Given the description of an element on the screen output the (x, y) to click on. 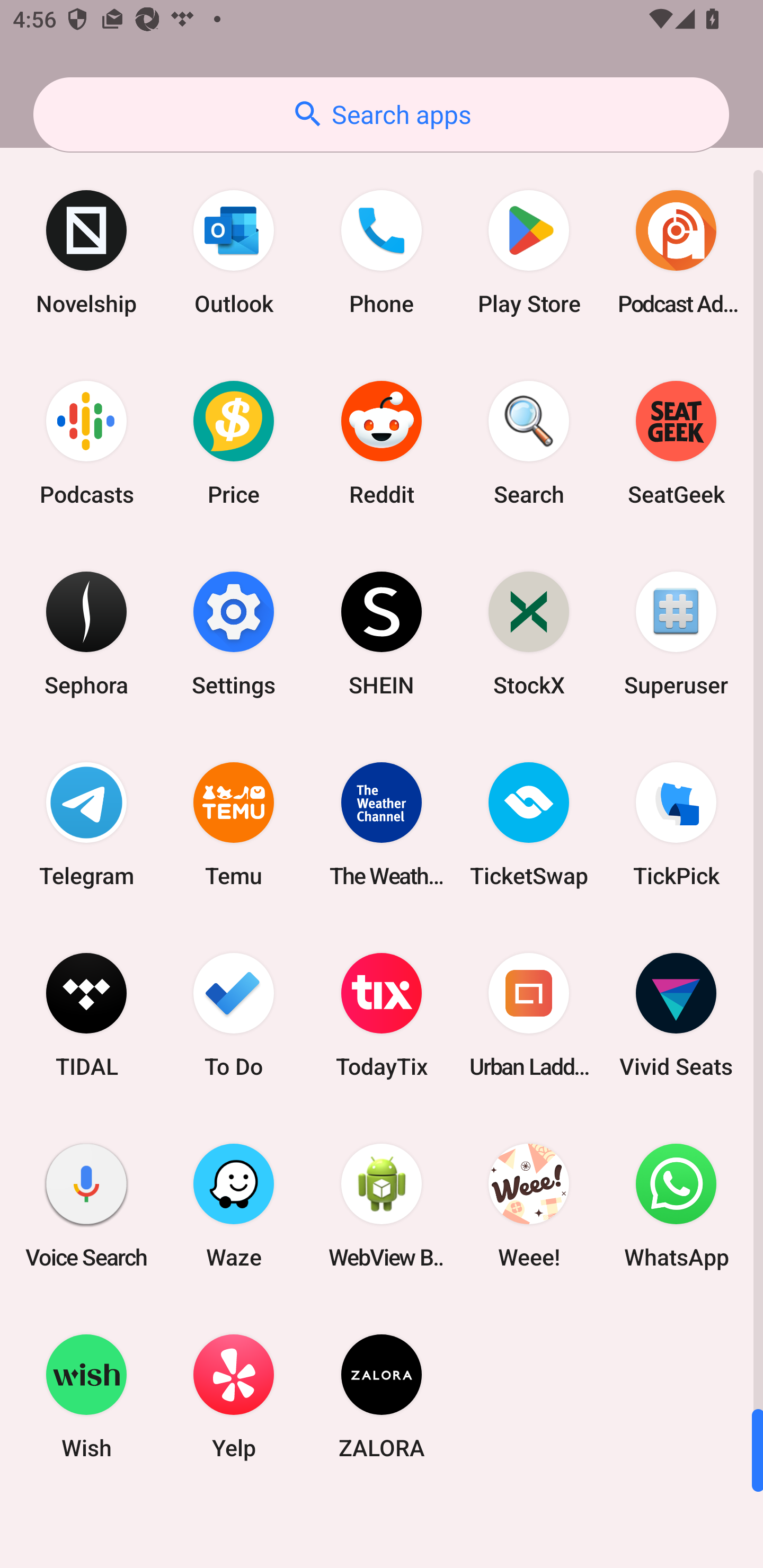
Yelp (233, 1396)
